Given the description of an element on the screen output the (x, y) to click on. 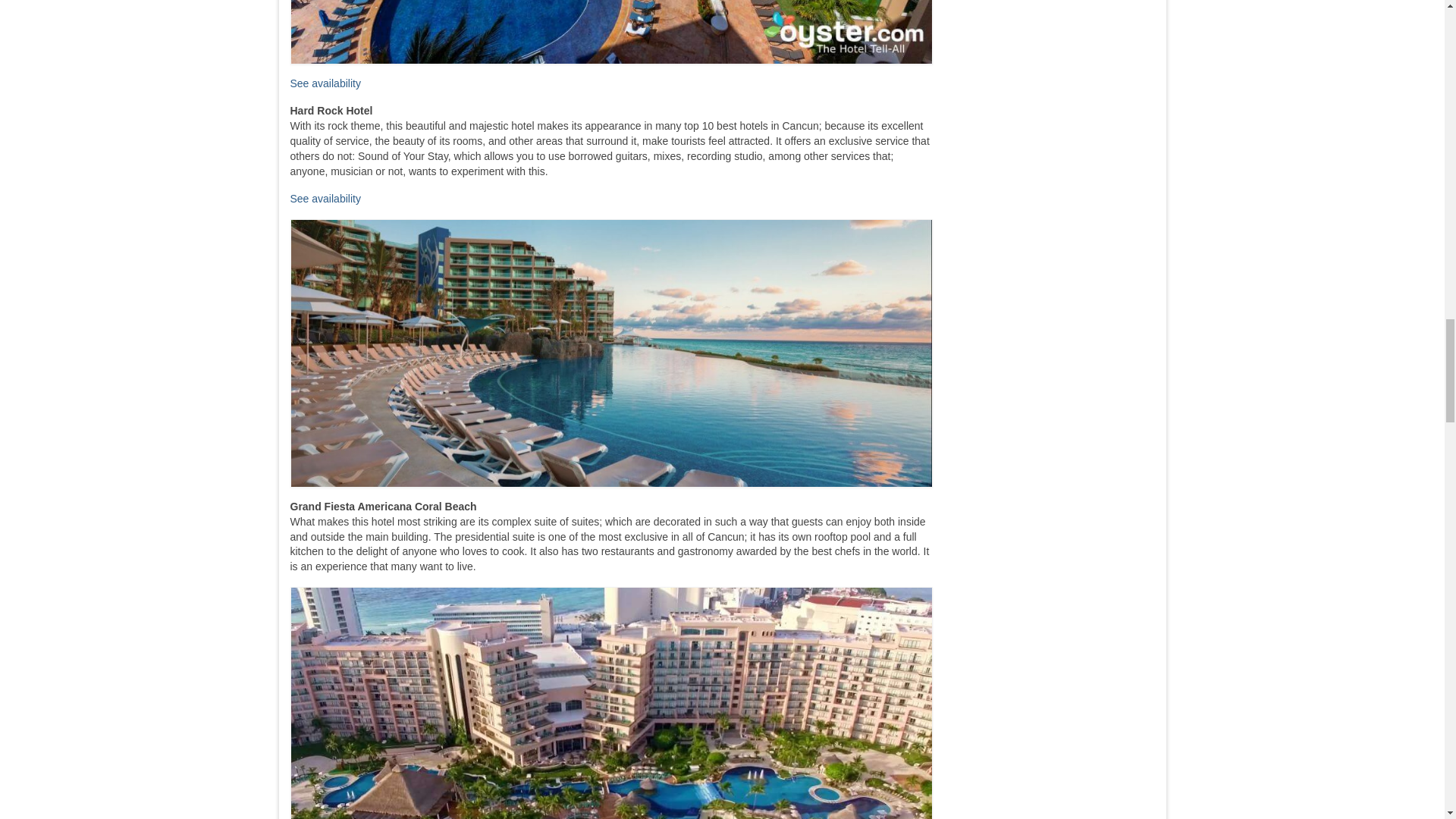
See availability (324, 82)
See availability (324, 198)
